Given the description of an element on the screen output the (x, y) to click on. 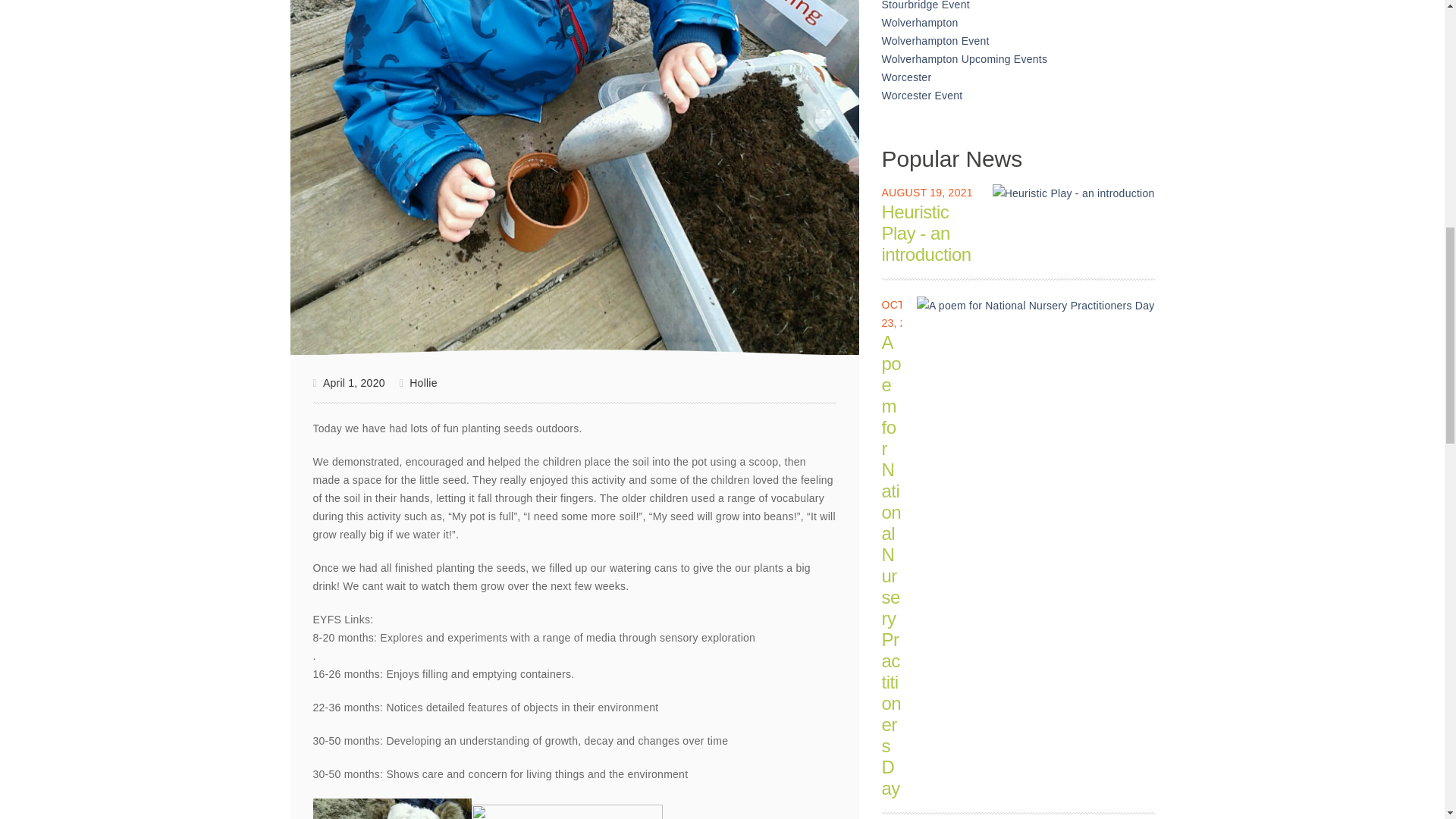
Stourbridge Event (925, 5)
Hollie (418, 382)
Heuristic Play - an introduction (1073, 192)
Wolverhampton (920, 22)
April 1, 2020 (348, 383)
A poem for National Nursery Practitioners Day (1035, 305)
Heuristic Play - an introduction (1073, 193)
A poem for National Nursery Practitioners Day (1035, 304)
